Given the description of an element on the screen output the (x, y) to click on. 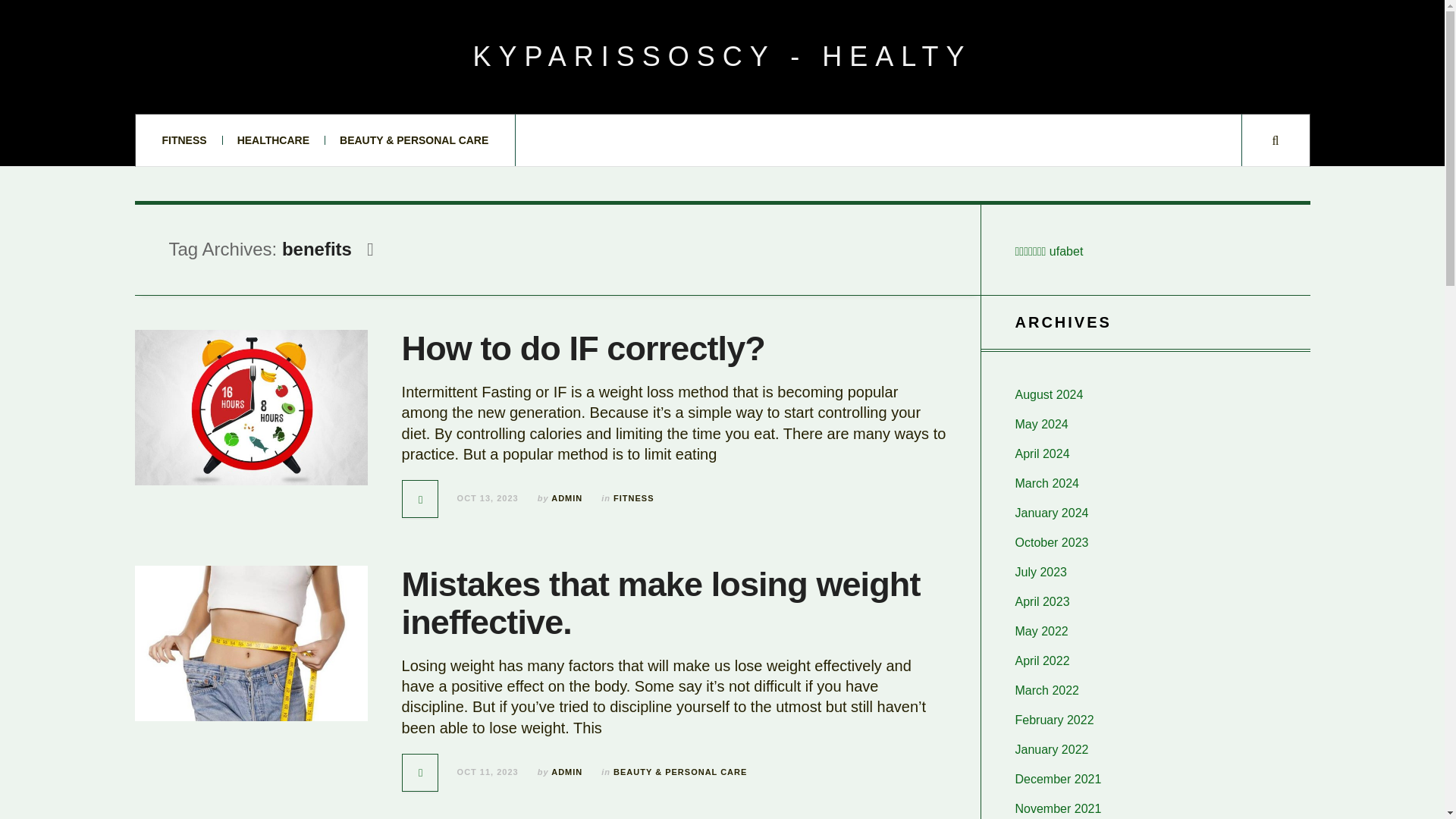
KYPARISSOSCY - HEALTY (721, 56)
FITNESS (632, 497)
ADMIN (566, 497)
Mistakes that make losing weight ineffective. (660, 603)
HEALTHCARE (273, 140)
View all posts in FITNESS (632, 497)
August 2024 (1048, 394)
Posts by admin (566, 497)
FITNESS (184, 140)
April 2024 (1041, 453)
